Given the description of an element on the screen output the (x, y) to click on. 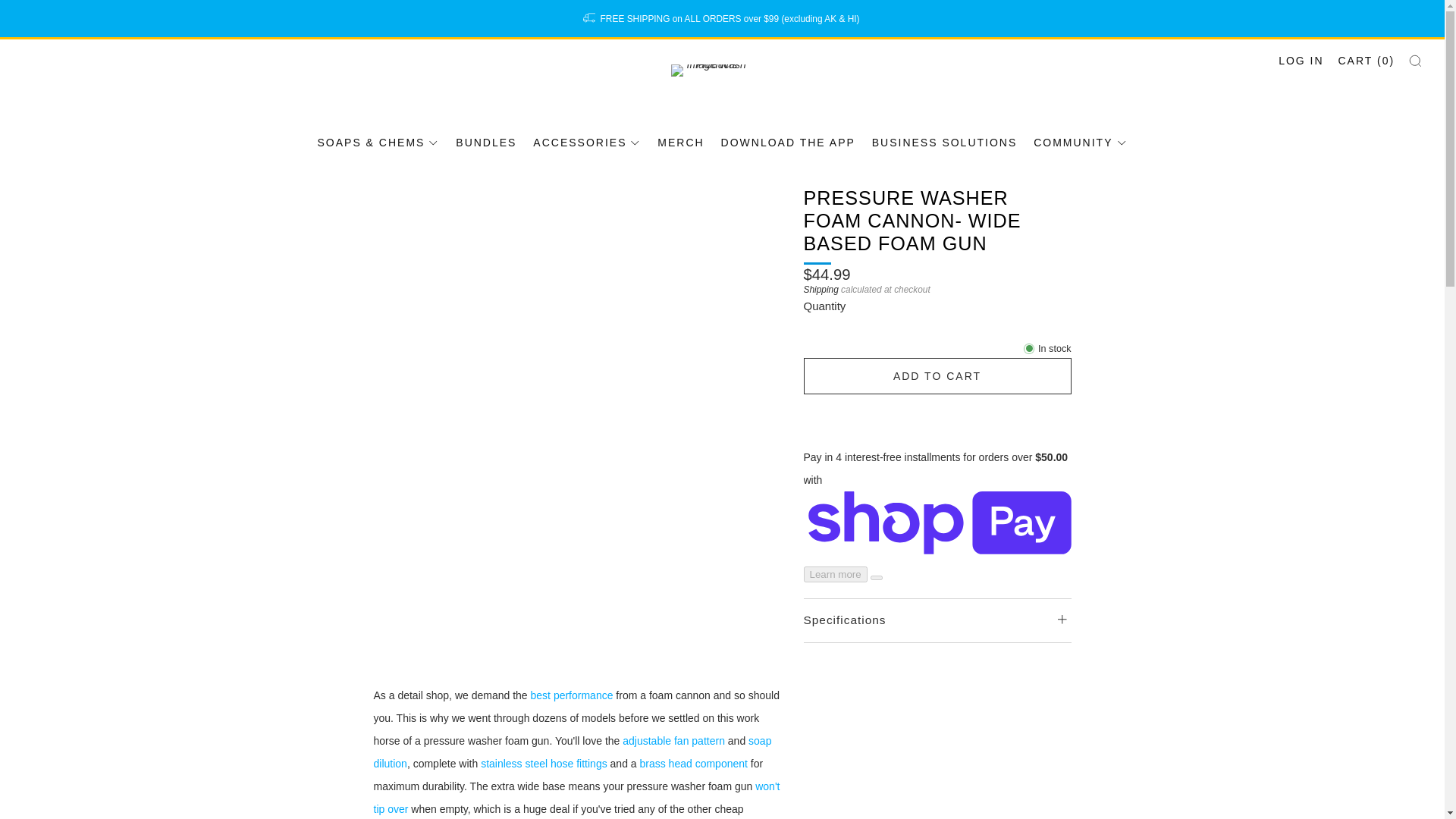
ACCESSORIES (586, 142)
BUSINESS SOLUTIONS (944, 142)
DOWNLOAD THE APP (788, 142)
MERCH (680, 142)
LOG IN (1300, 60)
BUNDLES (485, 142)
COMMUNITY (1079, 142)
